Given the description of an element on the screen output the (x, y) to click on. 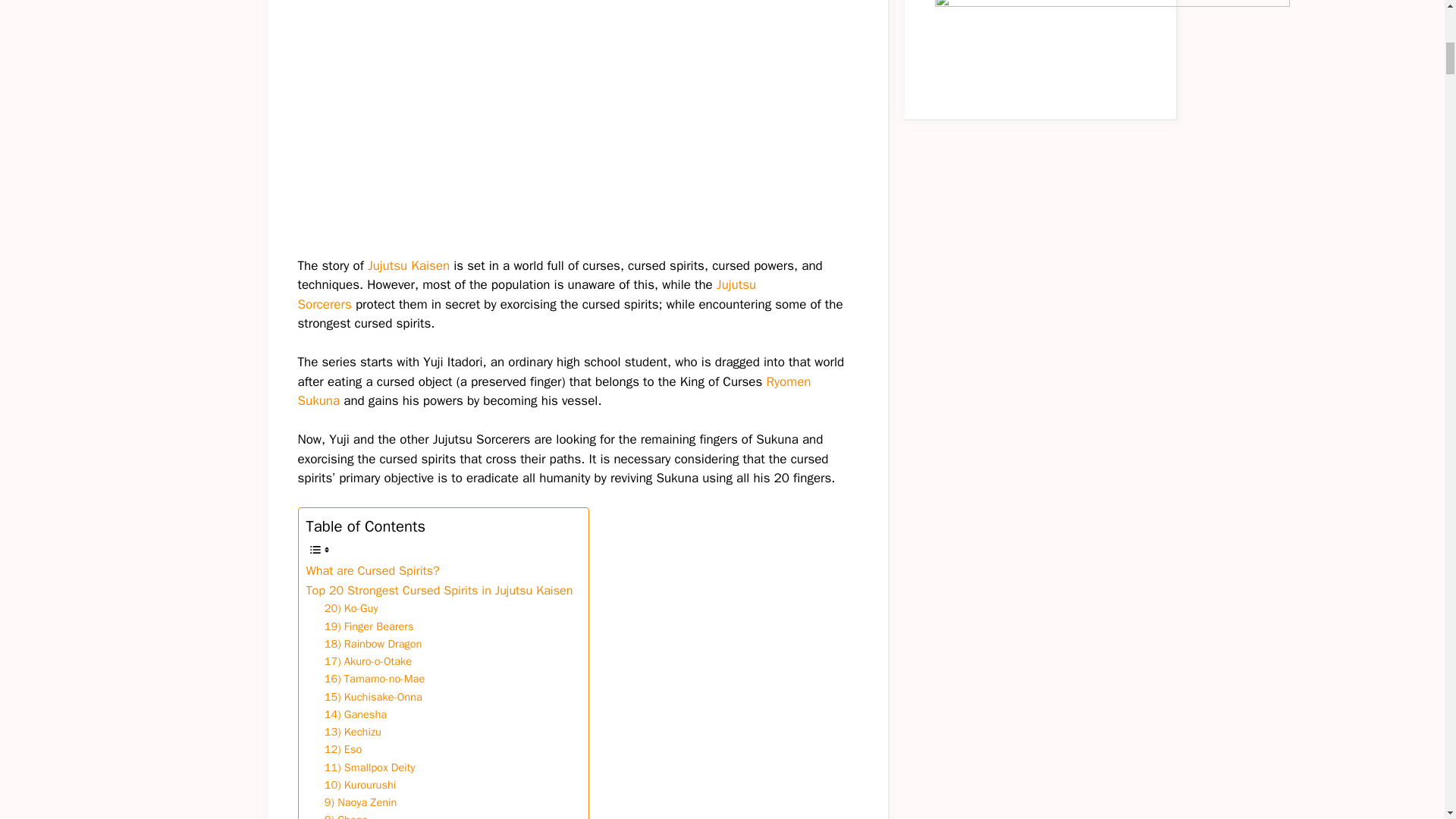
Jujutsu Kaisen (408, 265)
Ryomen Sukuna (553, 391)
Top 20 Strongest Cursed Spirits in Jujutsu Kaisen (439, 590)
What are Cursed Spirits? (372, 570)
Jujutsu Sorcerers (526, 294)
Top 20 Strongest Cursed Spirits in Jujutsu Kaisen (439, 590)
What are Cursed Spirits? (372, 570)
